Given the description of an element on the screen output the (x, y) to click on. 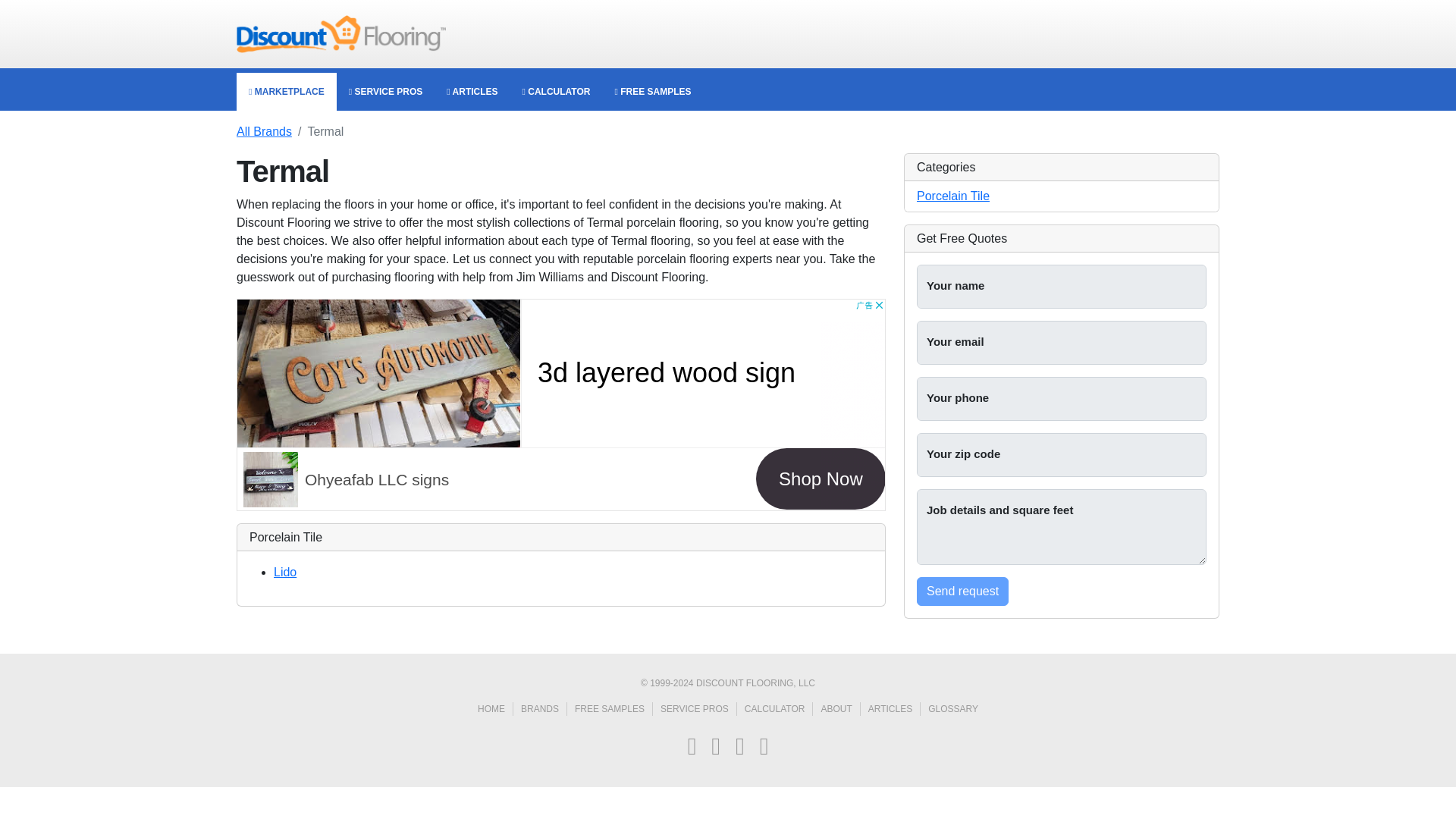
BRANDS (544, 708)
ARTICLES (893, 708)
Send request (963, 591)
ARTICLES (471, 91)
HOME (495, 708)
CALCULATOR (556, 91)
GLOSSARY (953, 708)
FREE SAMPLES (613, 708)
All Brands (263, 131)
SERVICE PROS (698, 708)
SERVICE PROS (385, 91)
Porcelain Tile (953, 195)
Lido (285, 571)
ABOUT (840, 708)
